Given the description of an element on the screen output the (x, y) to click on. 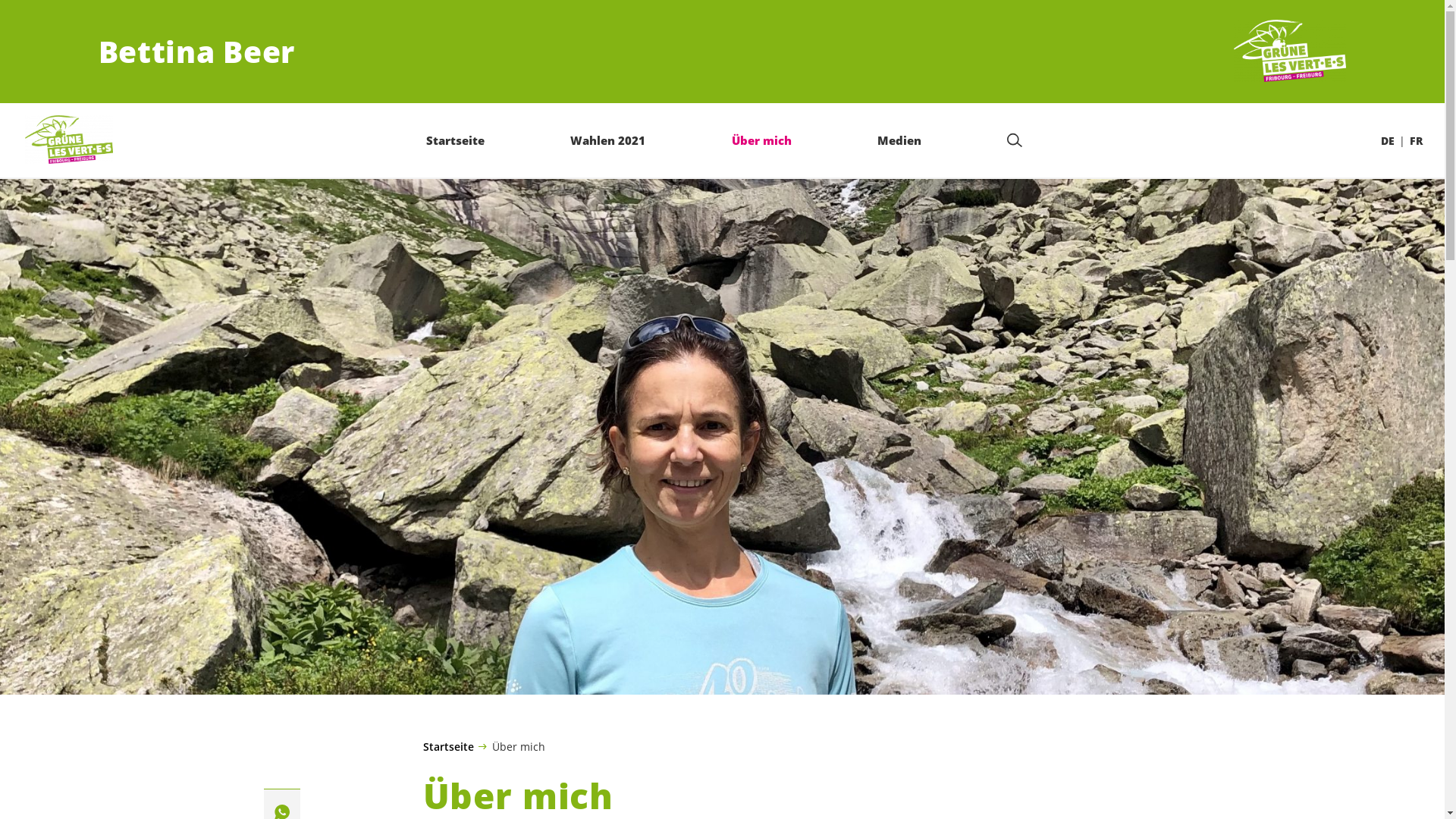
Medien Element type: text (899, 139)
FR Element type: text (1415, 140)
DE Element type: text (1387, 140)
Startseite Element type: hover (68, 140)
Wahlen 2021 Element type: text (607, 139)
Startseite Element type: hover (1289, 51)
ZUM HAUPTINHALT SPRINGEN Element type: text (98, 15)
Startseite Element type: text (448, 746)
Startseite Element type: text (455, 139)
